Given the description of an element on the screen output the (x, y) to click on. 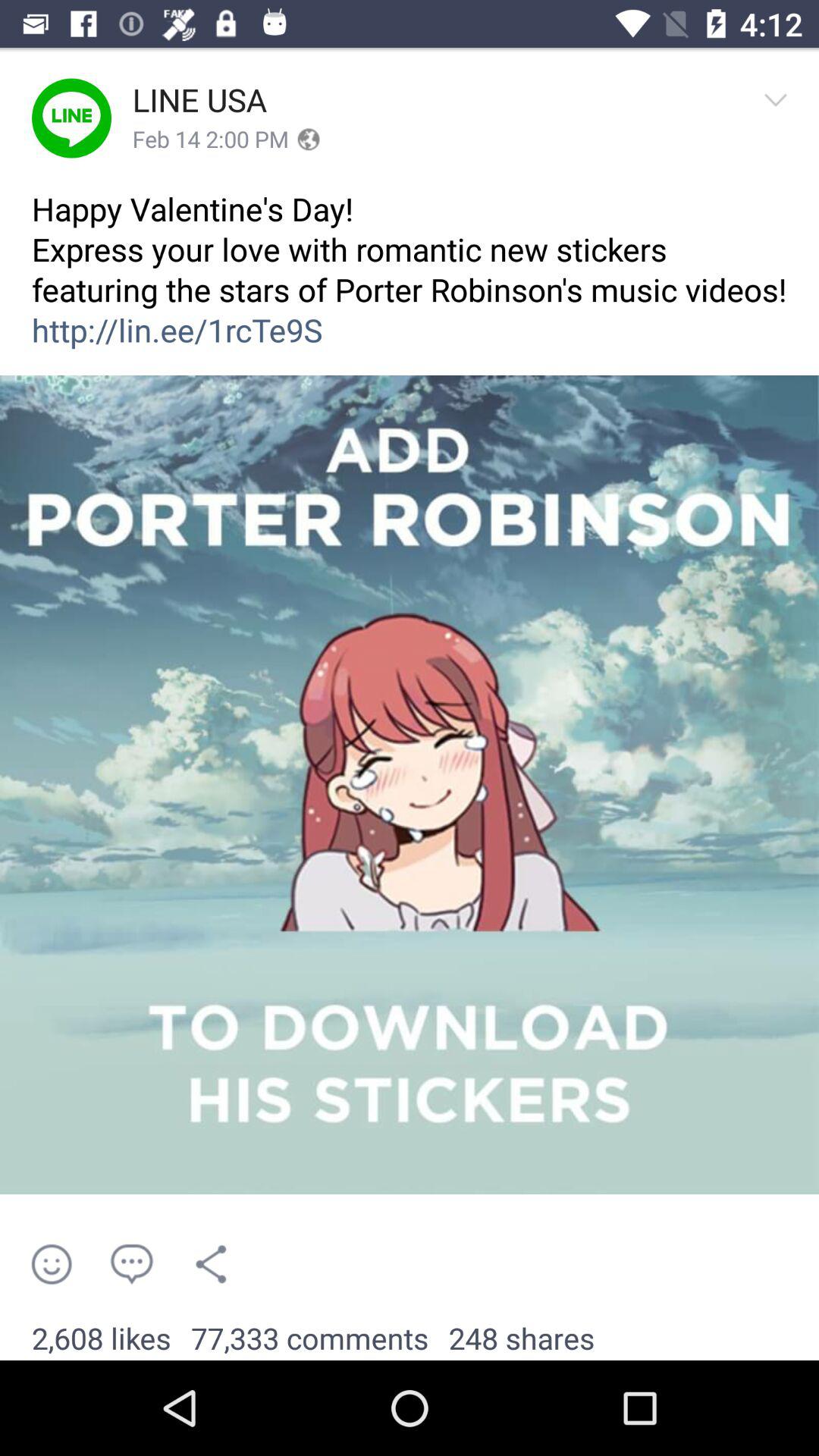
turn off the icon next to feb 14 2 (307, 139)
